Given the description of an element on the screen output the (x, y) to click on. 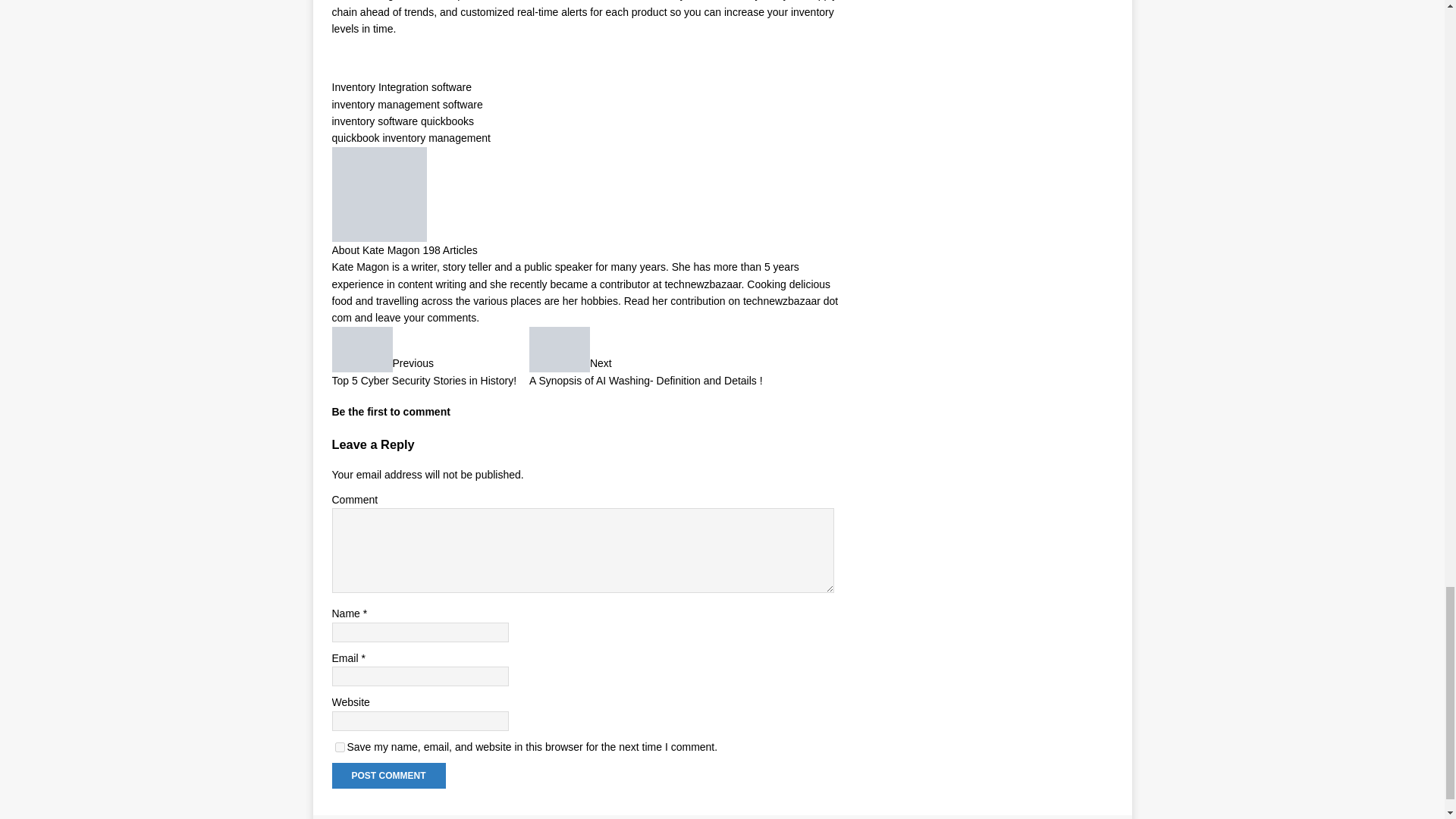
Post Comment (388, 775)
yes (339, 747)
Inventory Integration software (401, 87)
